Given the description of an element on the screen output the (x, y) to click on. 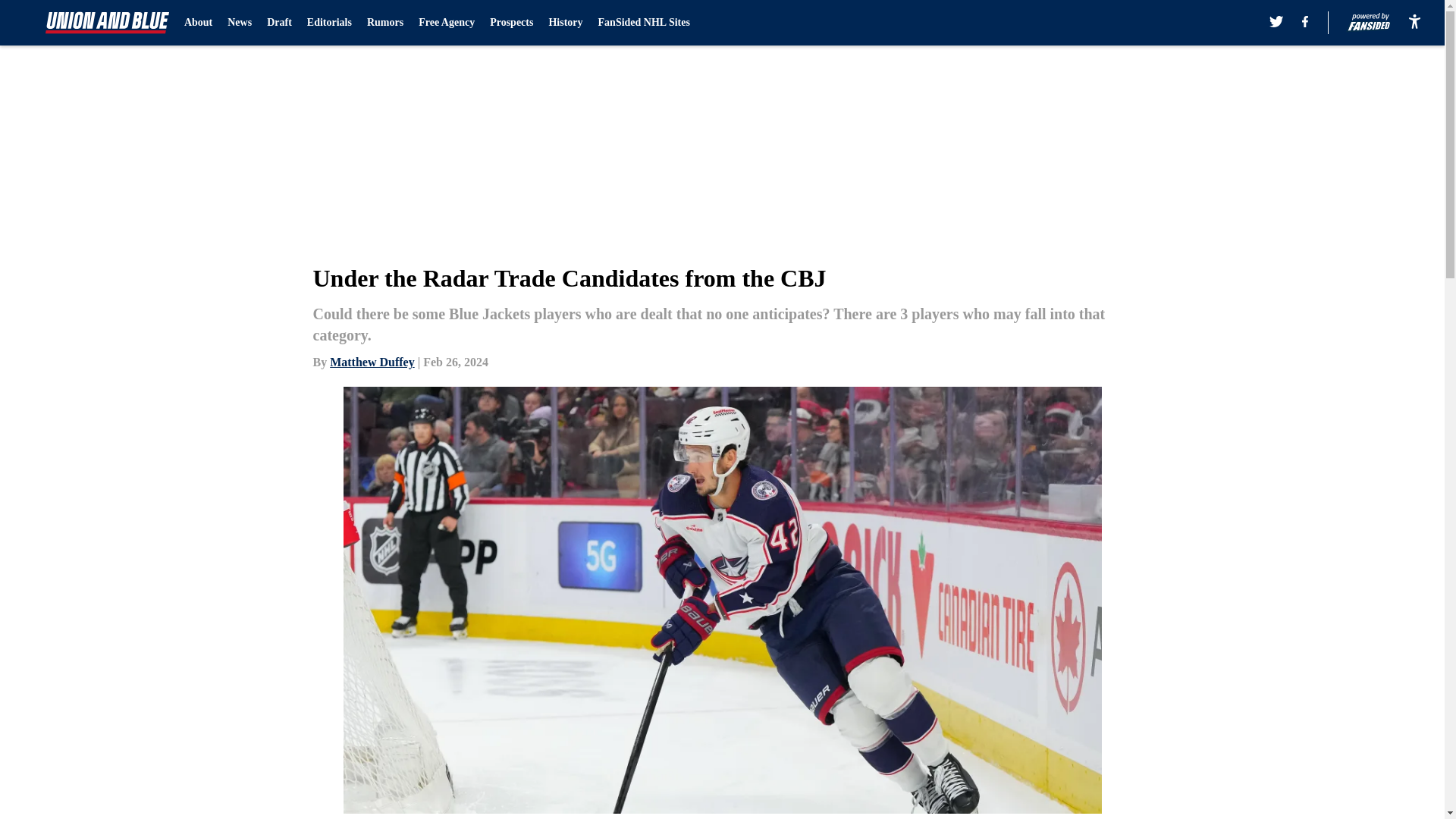
Draft (279, 22)
Rumors (384, 22)
History (565, 22)
Prospects (510, 22)
Free Agency (446, 22)
About (198, 22)
Matthew Duffey (372, 361)
News (239, 22)
Editorials (329, 22)
